Given the description of an element on the screen output the (x, y) to click on. 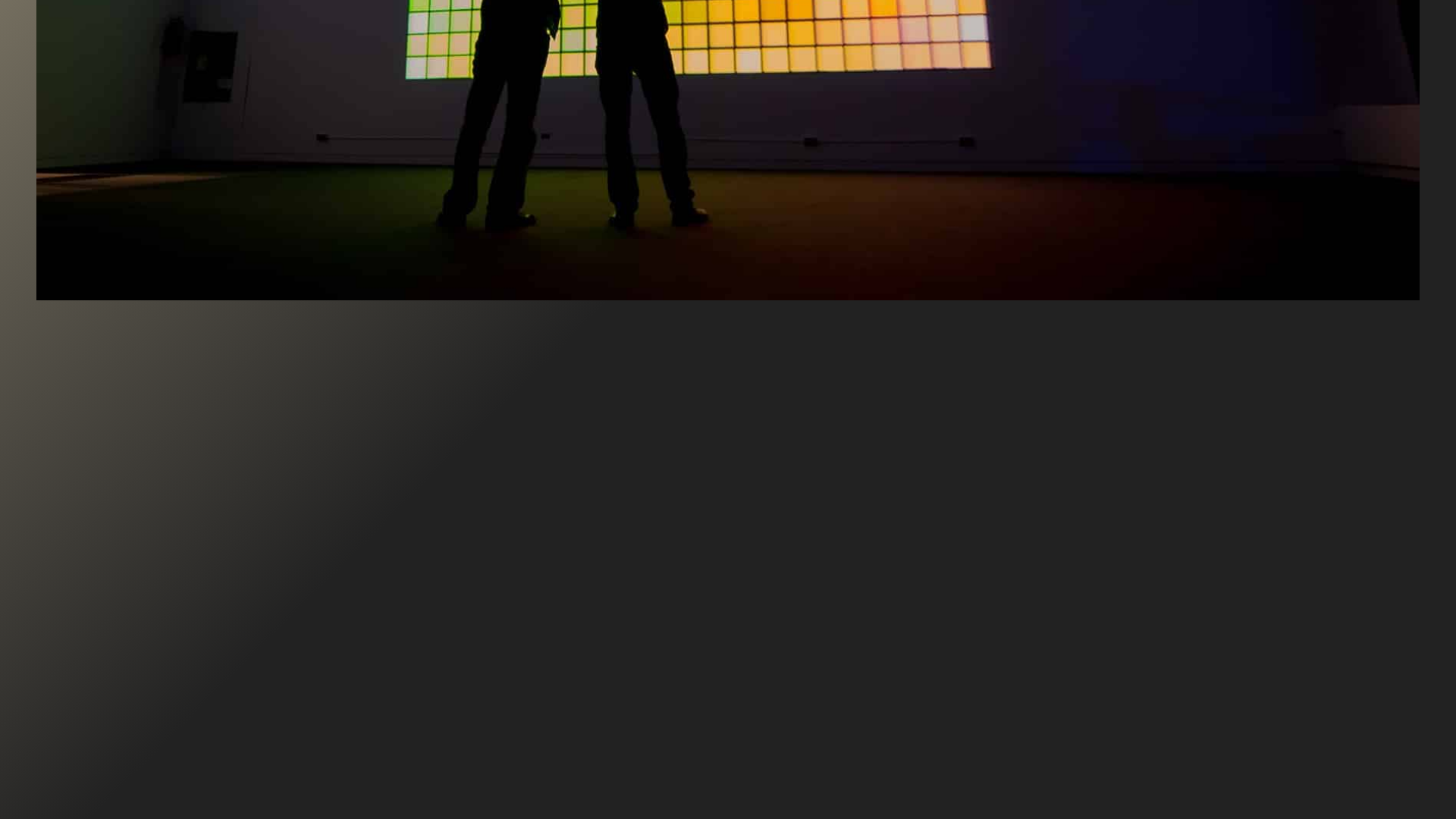
Subscribe (844, 115)
Subscribe (844, 115)
